Given the description of an element on the screen output the (x, y) to click on. 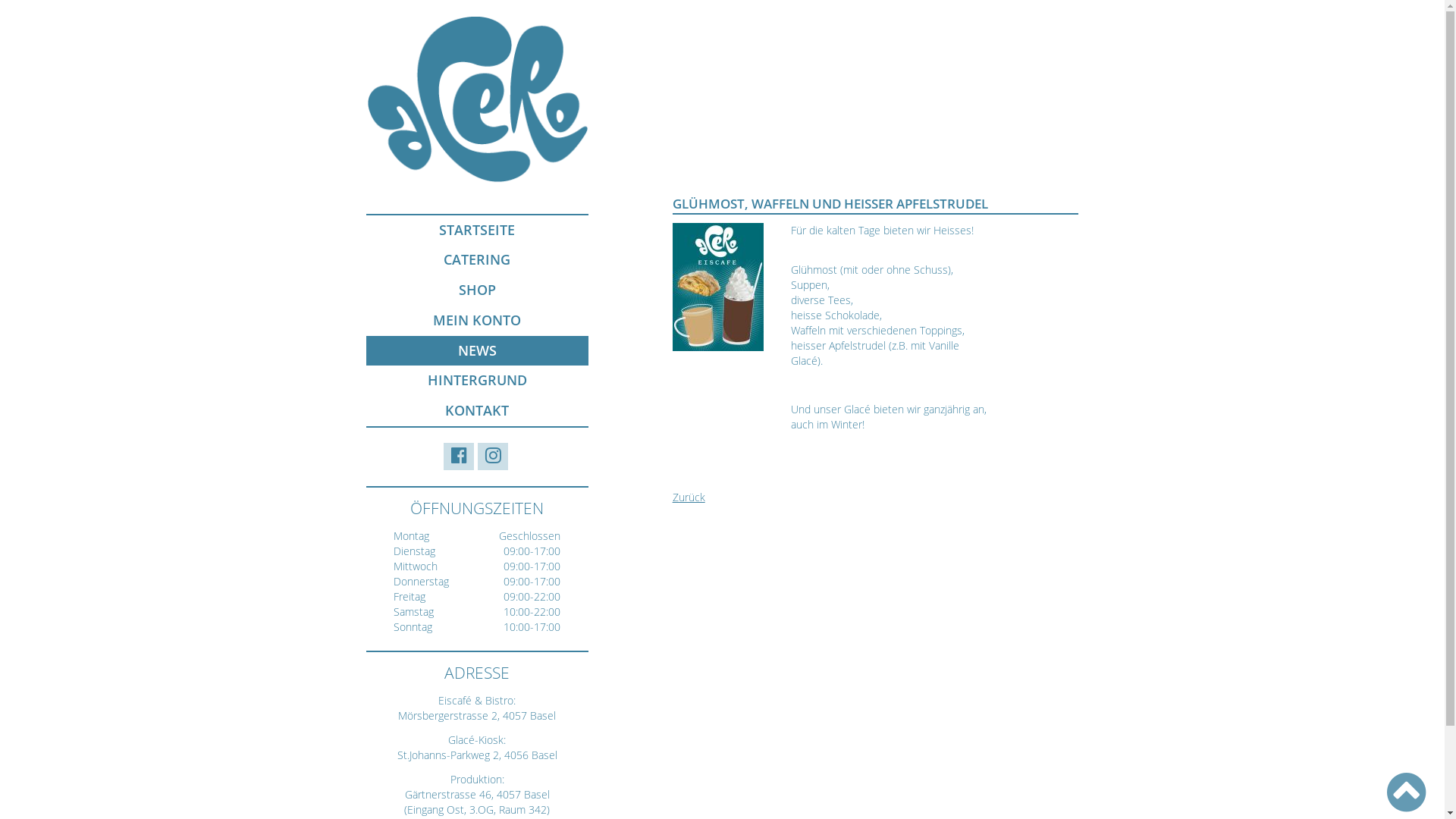
SHOP Element type: text (476, 290)
HINTERGRUND Element type: text (476, 380)
CATERING Element type: text (476, 259)
KONTAKT Element type: text (476, 410)
NEWS Element type: text (476, 350)
STARTSEITE Element type: text (476, 230)
MEIN KONTO Element type: text (476, 320)
St.Johanns-Parkweg 2, 4056 Basel Element type: text (477, 754)
